Given the description of an element on the screen output the (x, y) to click on. 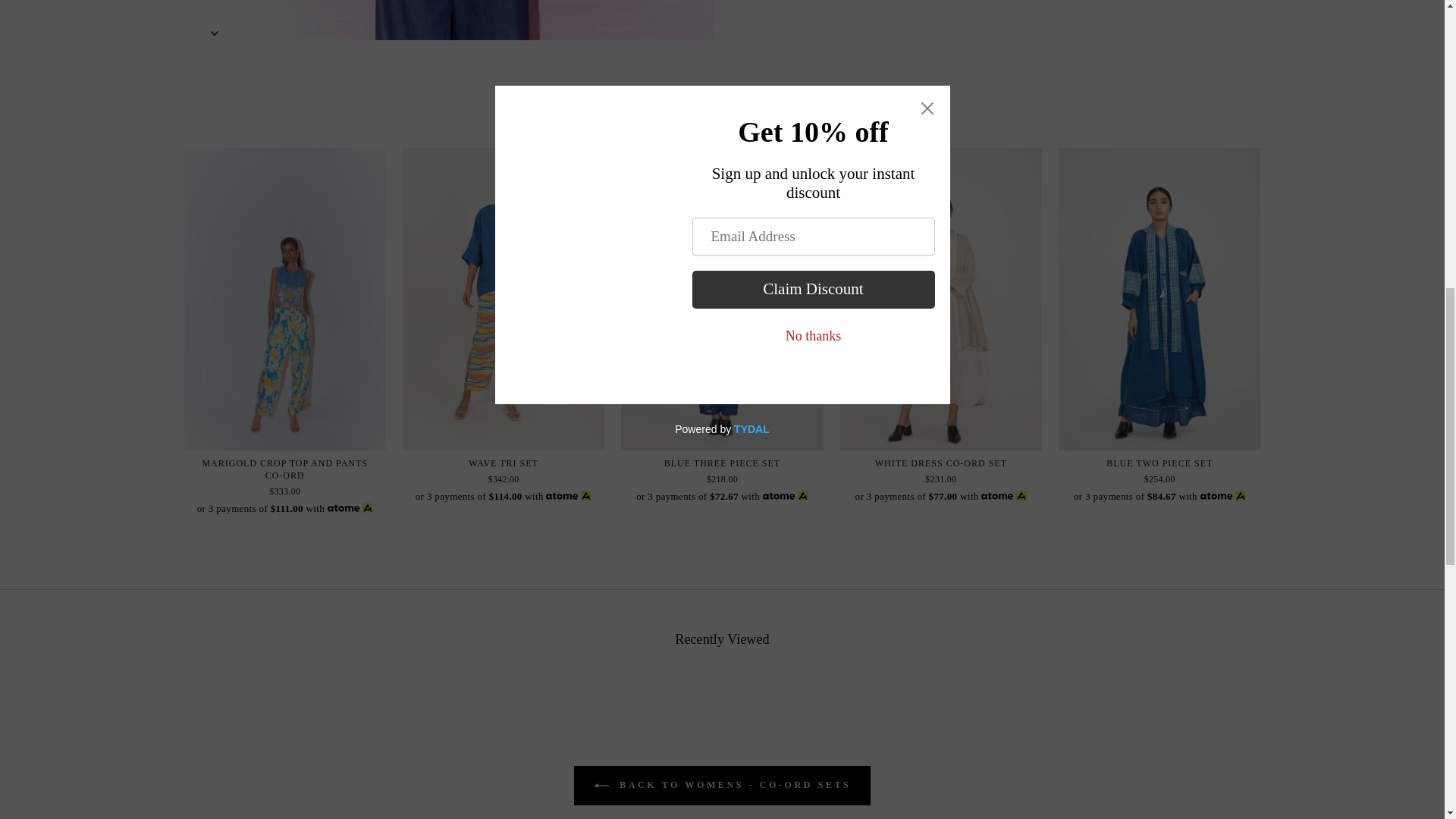
icon-chevron (214, 33)
